Given the description of an element on the screen output the (x, y) to click on. 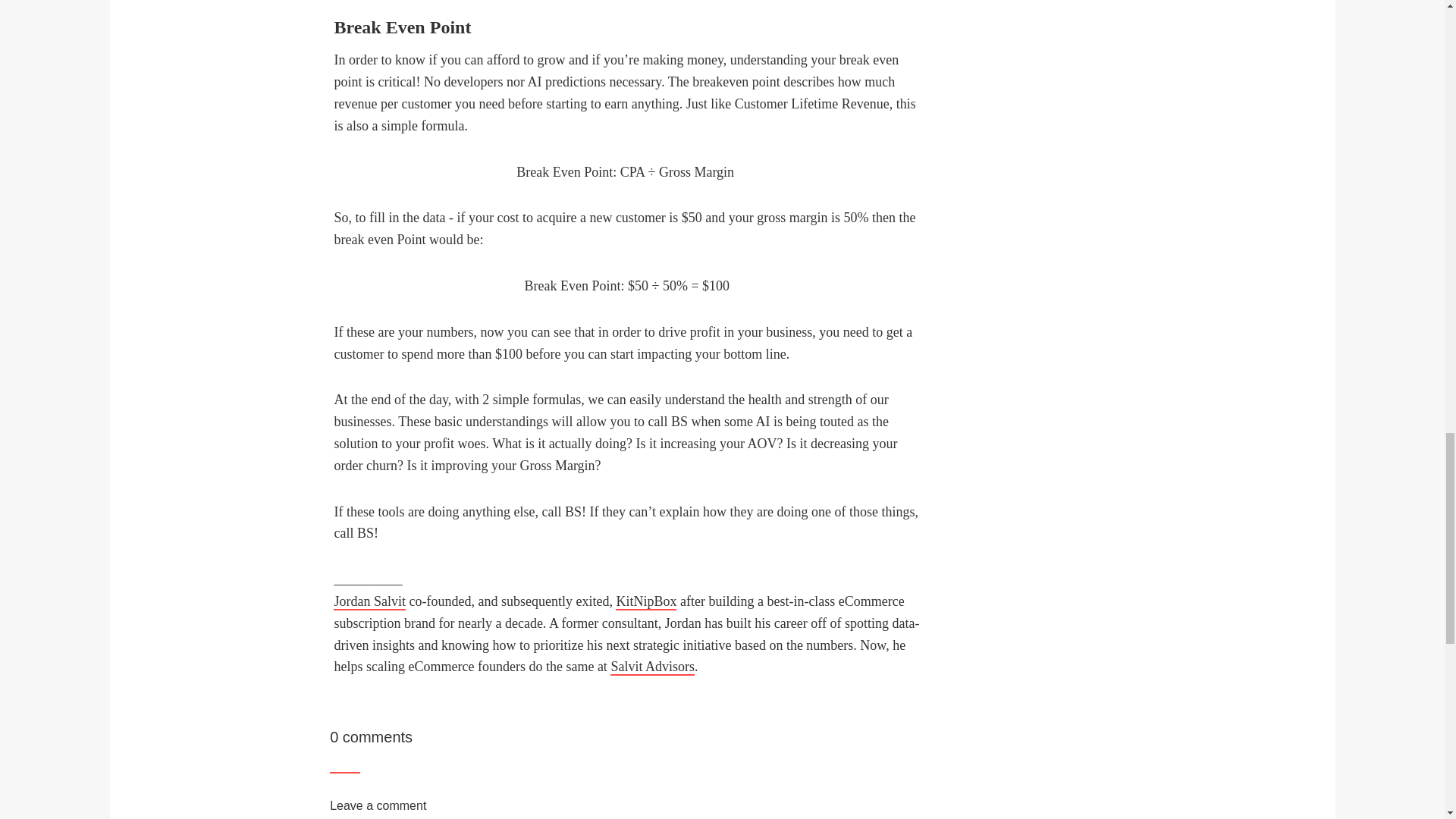
KitNipBox (646, 601)
Jordan Salvit's LinkedIn (369, 601)
Salvit Advisors (652, 667)
Salvit Advisors (652, 667)
KitNipBox (646, 601)
Jordan Salvit (369, 601)
